Given the description of an element on the screen output the (x, y) to click on. 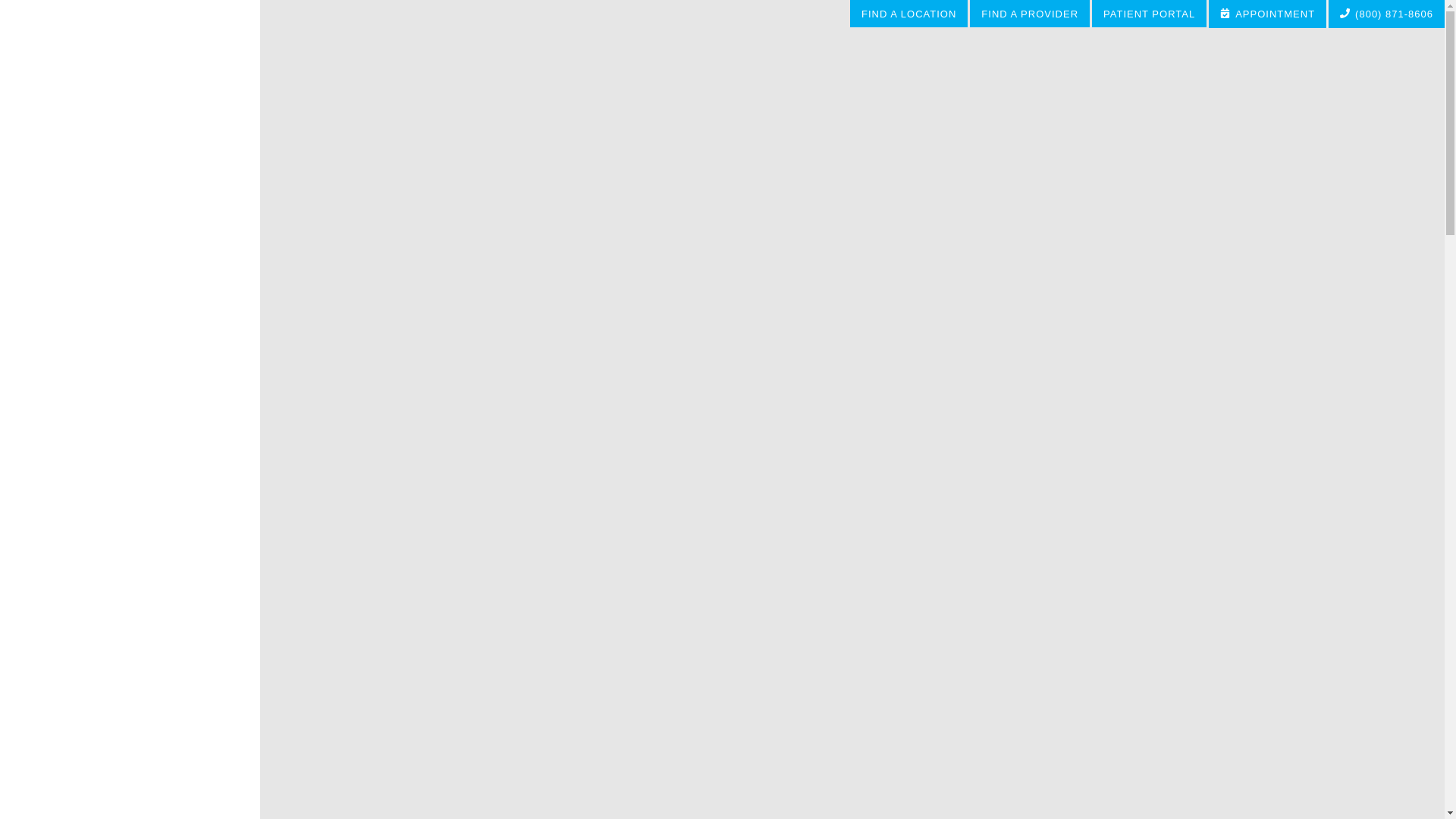
FIND A PROVIDER (1029, 13)
PATIENT PORTAL (1150, 13)
APPOINTMENT (1267, 13)
FIND A LOCATION (909, 13)
